Given the description of an element on the screen output the (x, y) to click on. 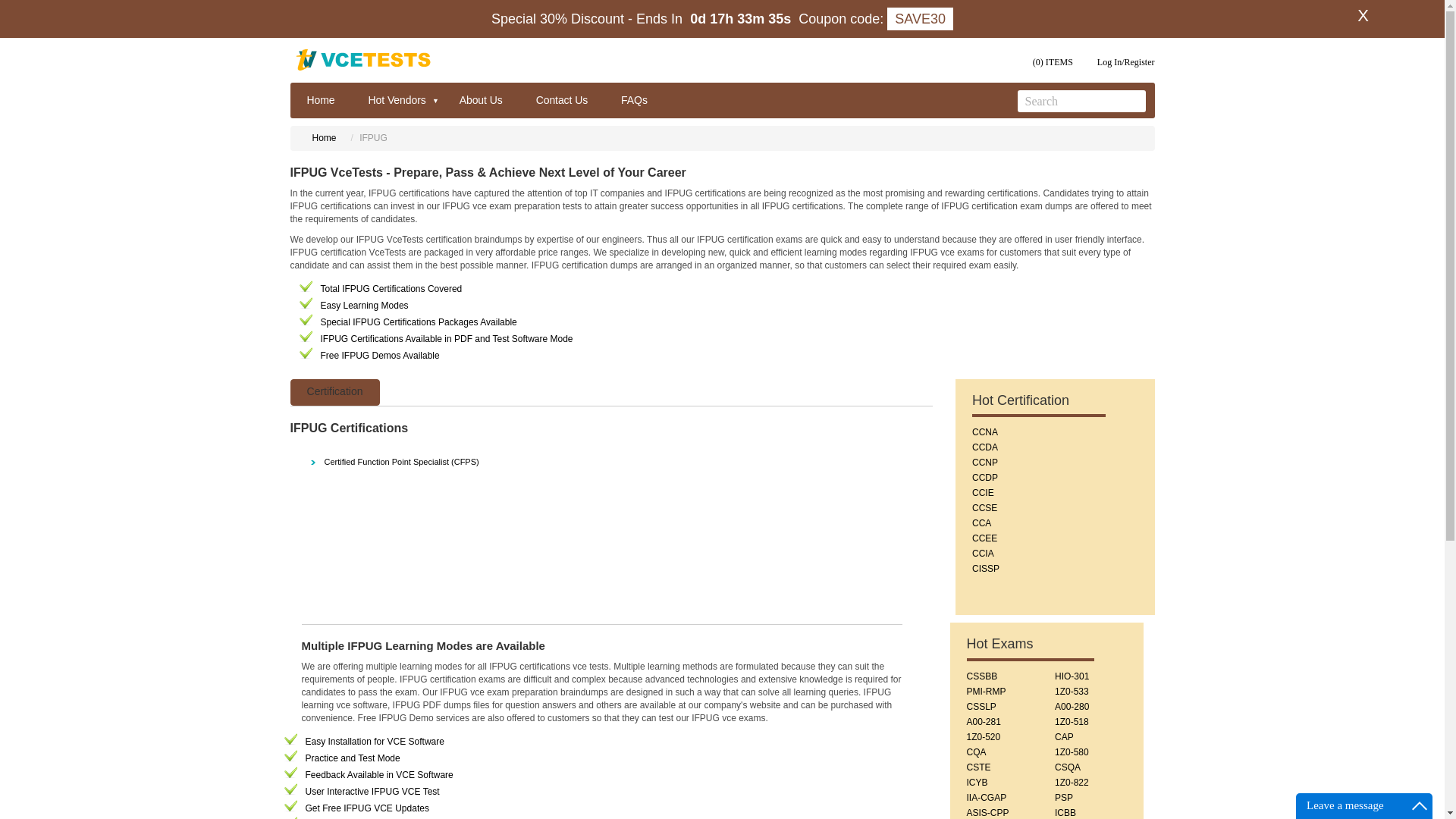
CCNP (984, 462)
1Z0-520 (983, 737)
CCDA (984, 447)
CCEE (984, 538)
Maximize (1419, 805)
About Us (480, 95)
Home (324, 137)
1Z0-533 (1071, 691)
CCDP (984, 477)
CSSLP (980, 706)
Contact Us (561, 95)
HIO-301 (1071, 675)
Home (319, 95)
PMI-RMP (986, 691)
A00-281 (983, 721)
